Given the description of an element on the screen output the (x, y) to click on. 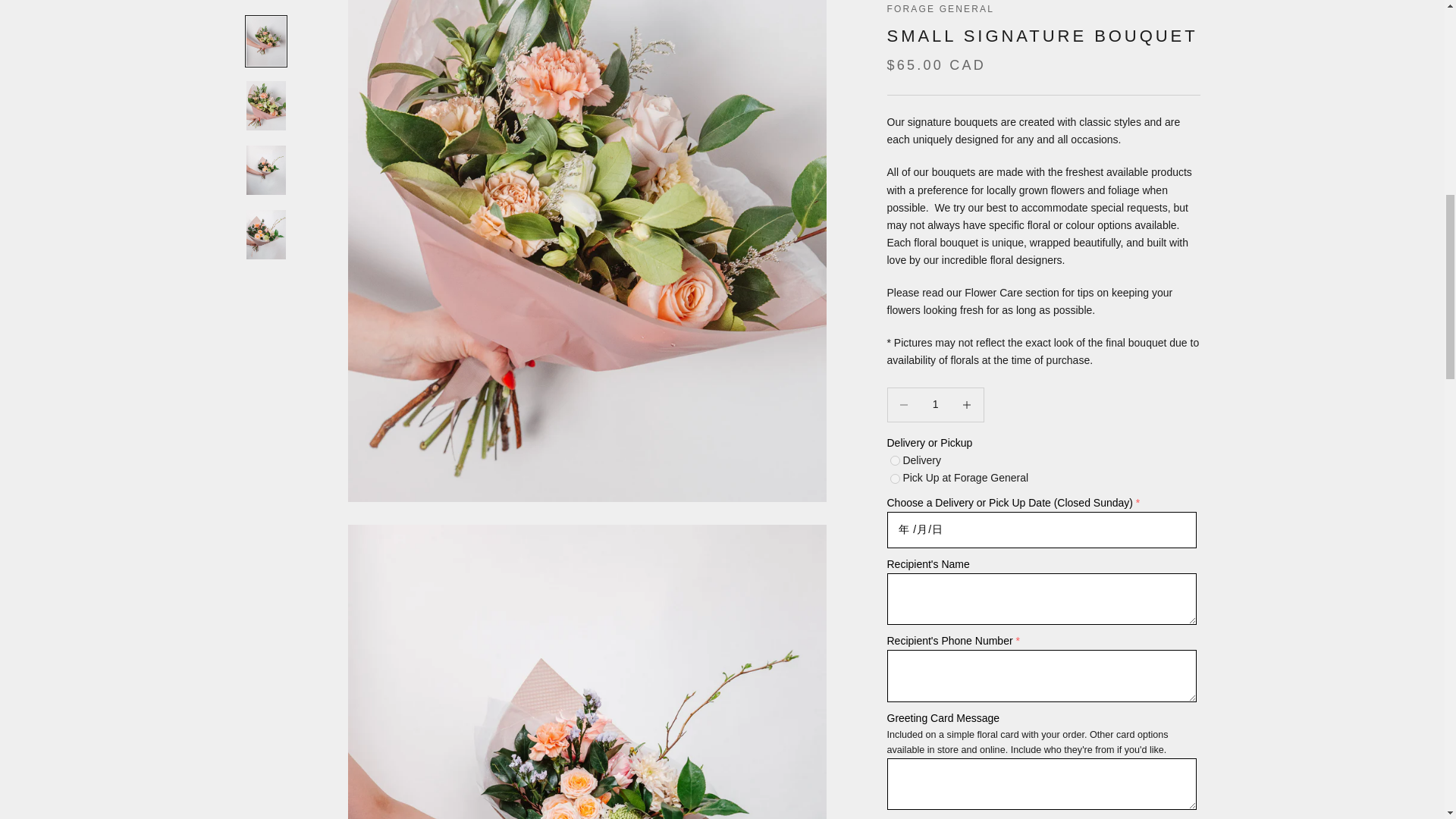
ADD TO CART (1042, 264)
